Given the description of an element on the screen output the (x, y) to click on. 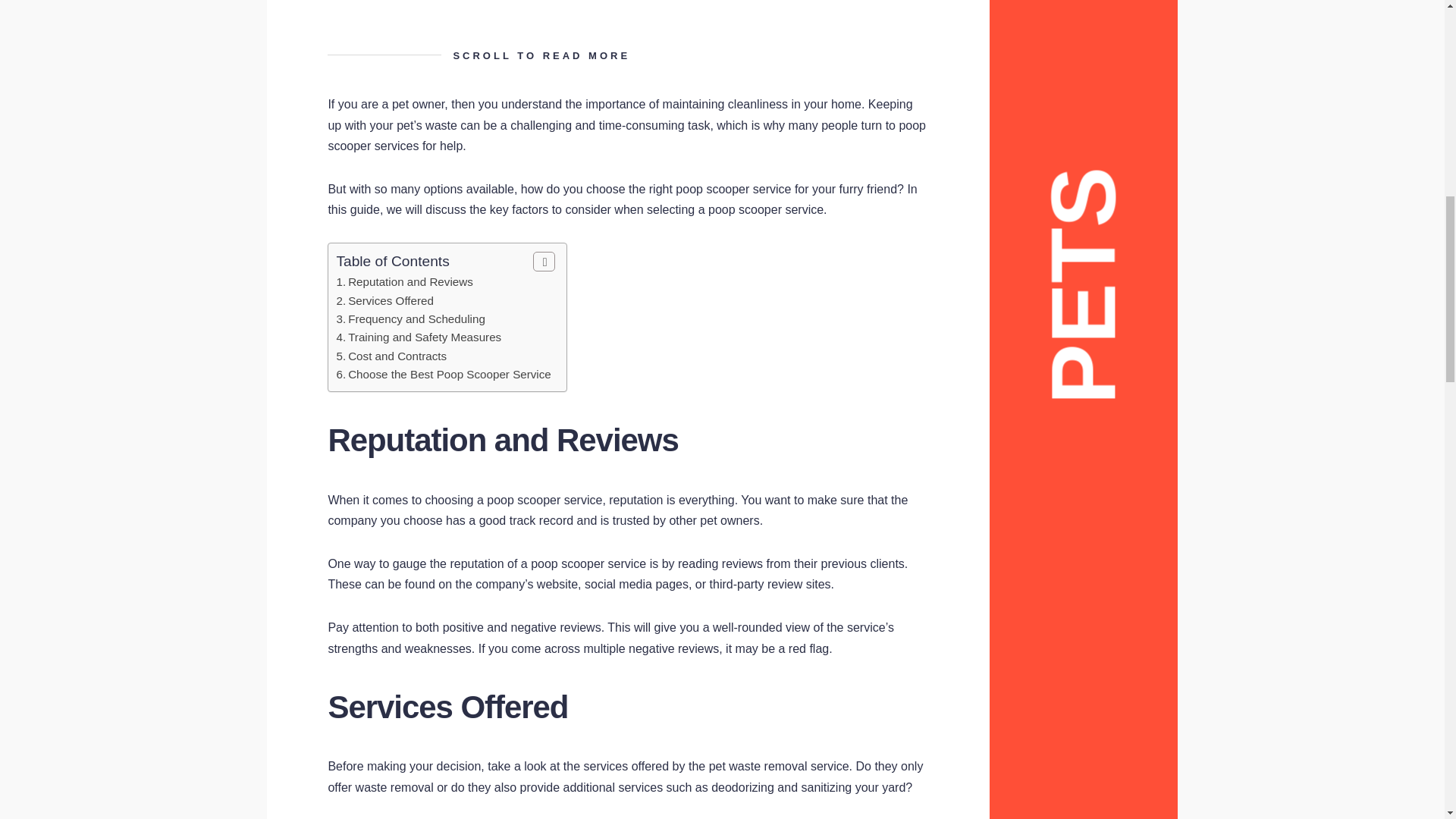
Cost and Contracts (396, 355)
Reputation and Reviews (410, 281)
Cost and Contracts (396, 355)
Training and Safety Measures (423, 336)
Frequency and Scheduling (415, 318)
Choose the Best Poop Scooper Service (449, 373)
Reputation and Reviews (410, 281)
Choose the Best Poop Scooper Service (449, 373)
Frequency and Scheduling (415, 318)
Services Offered (390, 300)
Training and Safety Measures (423, 336)
Services Offered (390, 300)
SCROLL TO READ MORE (627, 55)
